Given the description of an element on the screen output the (x, y) to click on. 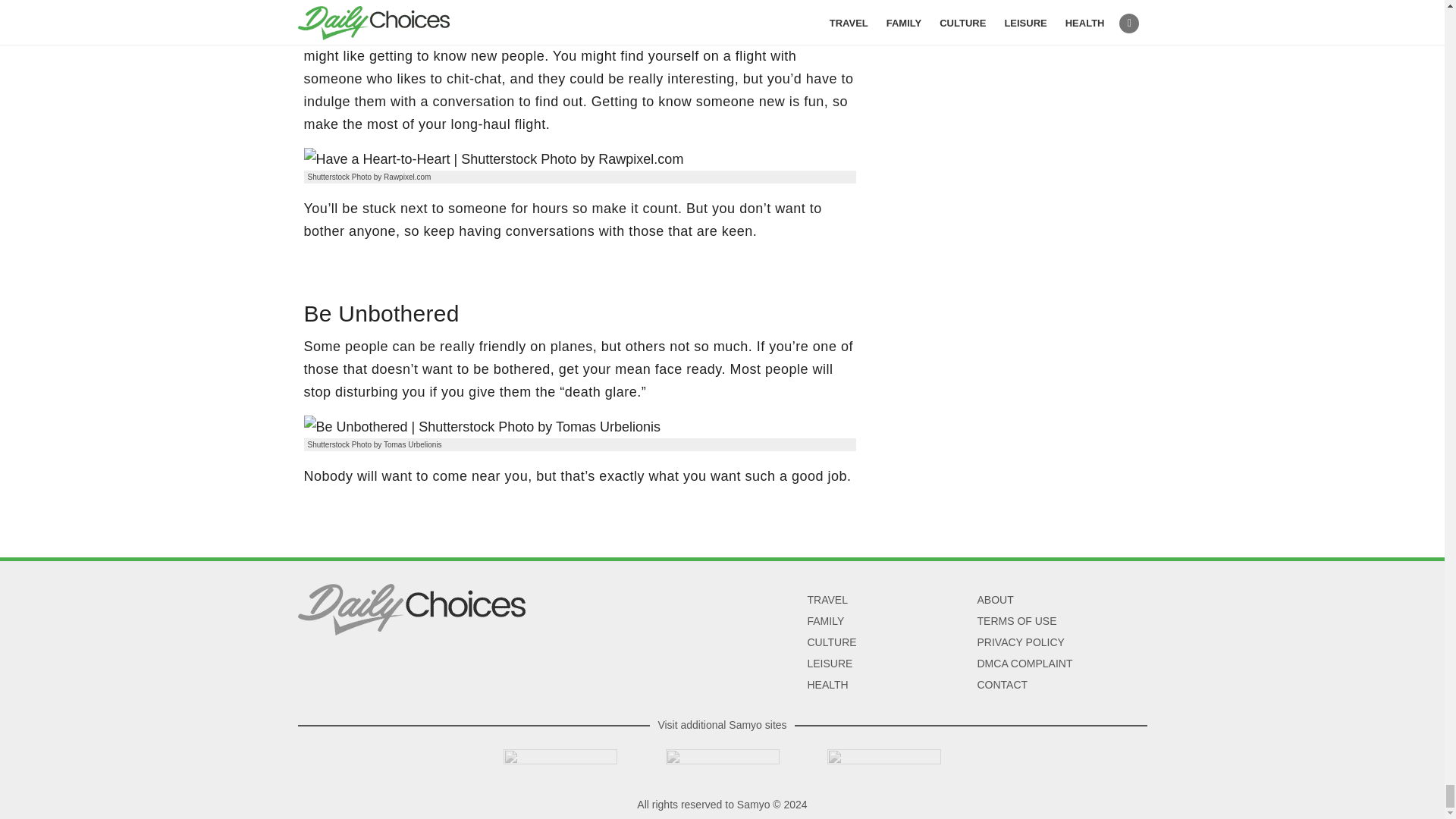
HEALTH (826, 684)
DMCA COMPLAINT (1023, 663)
TERMS OF USE (1016, 621)
TRAVEL (826, 599)
FAMILY (825, 621)
ABOUT (994, 599)
CONTACT (1001, 684)
LEISURE (828, 663)
CULTURE (831, 642)
PRIVACY POLICY (1020, 642)
